Given the description of an element on the screen output the (x, y) to click on. 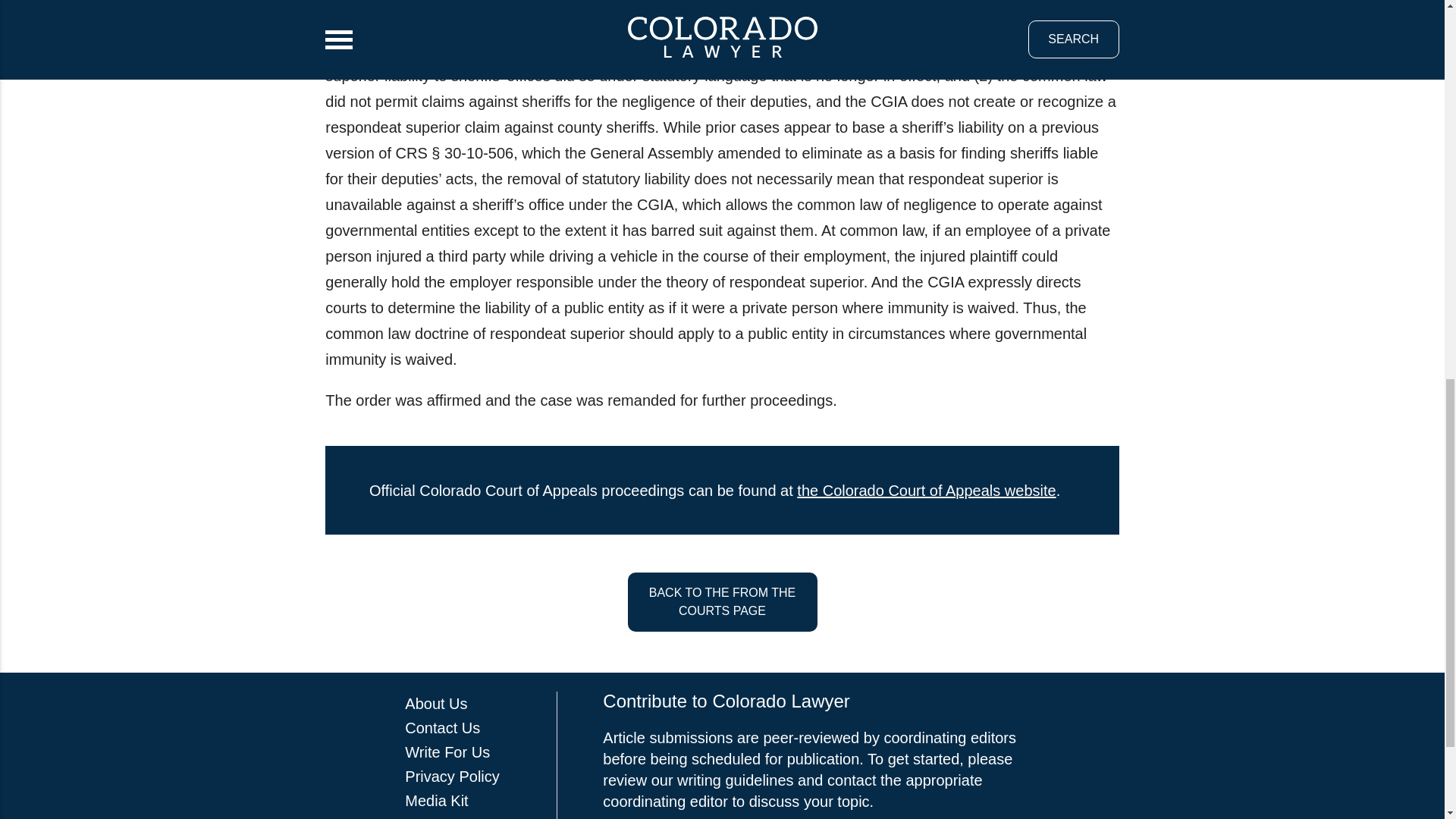
Media Kit (435, 800)
Privacy Policy (451, 776)
the Colorado Court of Appeals website (925, 490)
Write For Us (446, 751)
BACK TO THE FROM THE COURTS PAGE (721, 601)
About Us (435, 703)
Contact Us (442, 727)
